Given the description of an element on the screen output the (x, y) to click on. 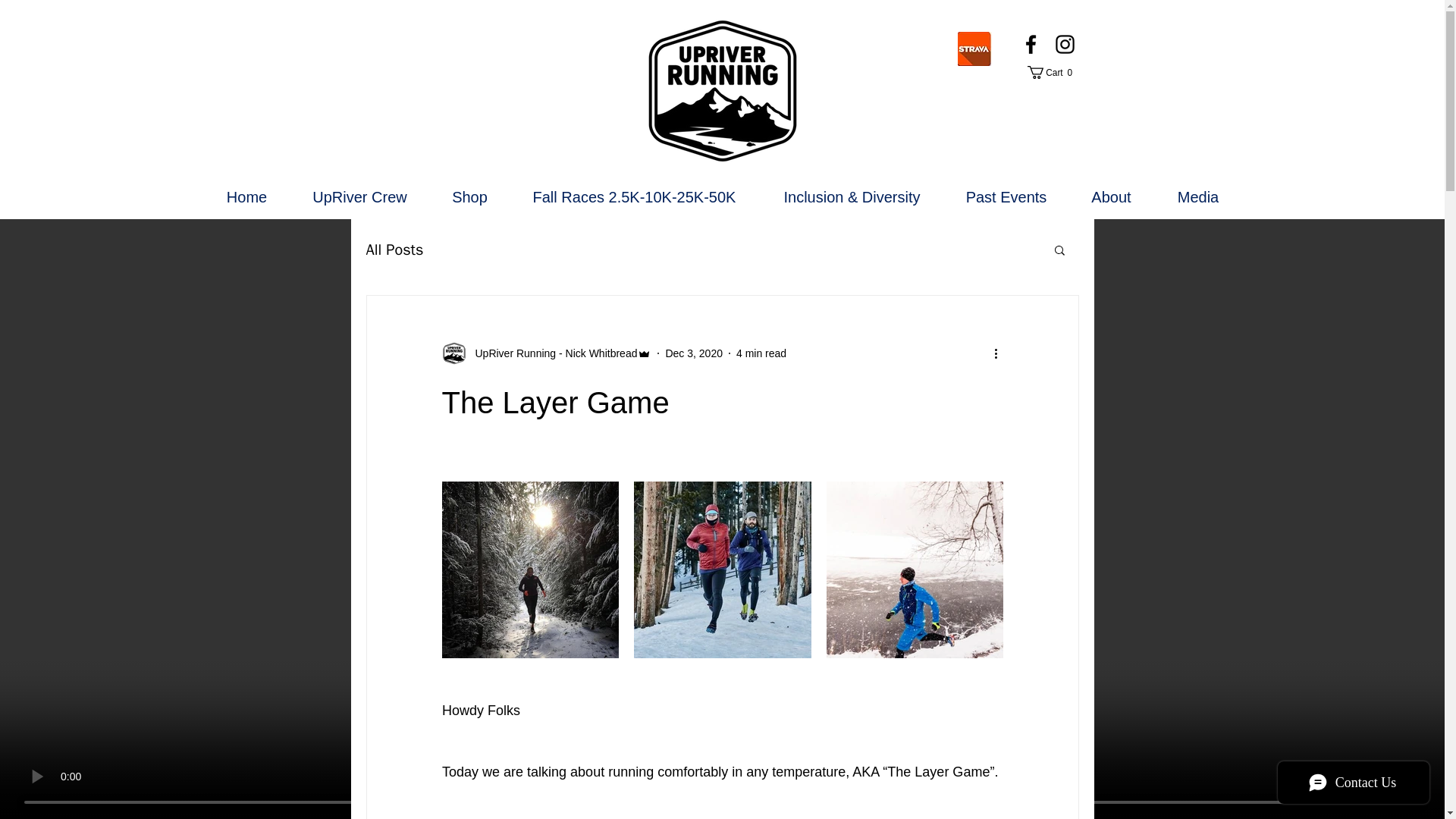
UpRiver Running - Nick Whitbread (551, 353)
4 min read (1051, 72)
Media (761, 353)
Shop (1197, 196)
Fall Races 2.5K-10K-25K-50K (469, 196)
UpRiver Crew (634, 196)
Dec 3, 2020 (359, 196)
Home (693, 353)
About (247, 196)
All Posts (1110, 196)
Past Events (394, 249)
UpRiver Running - Nick Whitbread (1006, 196)
